Given the description of an element on the screen output the (x, y) to click on. 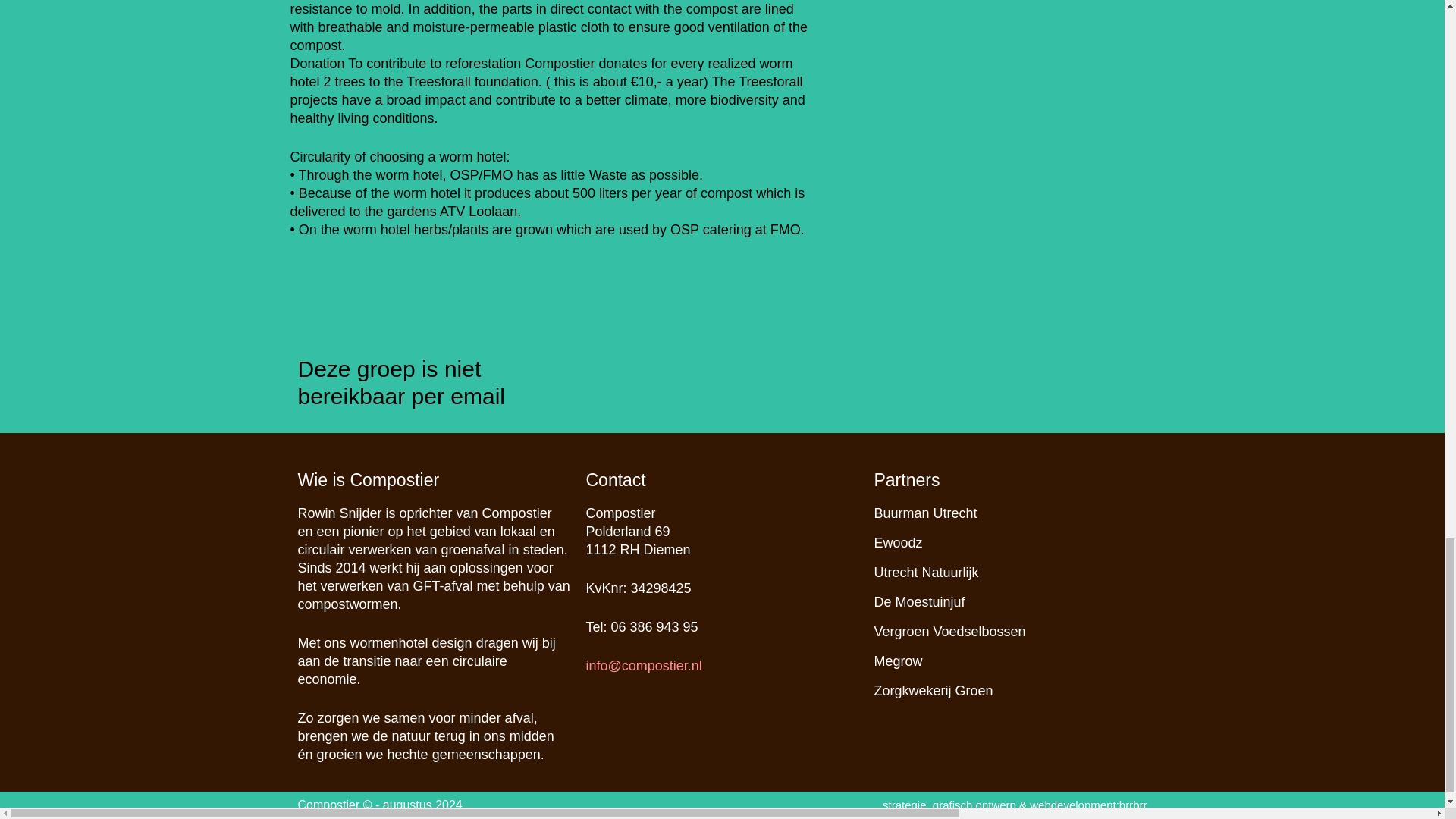
Buurman Utrecht (924, 513)
Utrecht Natuurlijk (925, 572)
Vergroen Voedselbossen (949, 631)
Zorgkwekerij Groen (932, 690)
Megrow (897, 661)
Ewoodz (897, 542)
De Moestuinjuf (918, 601)
